Given the description of an element on the screen output the (x, y) to click on. 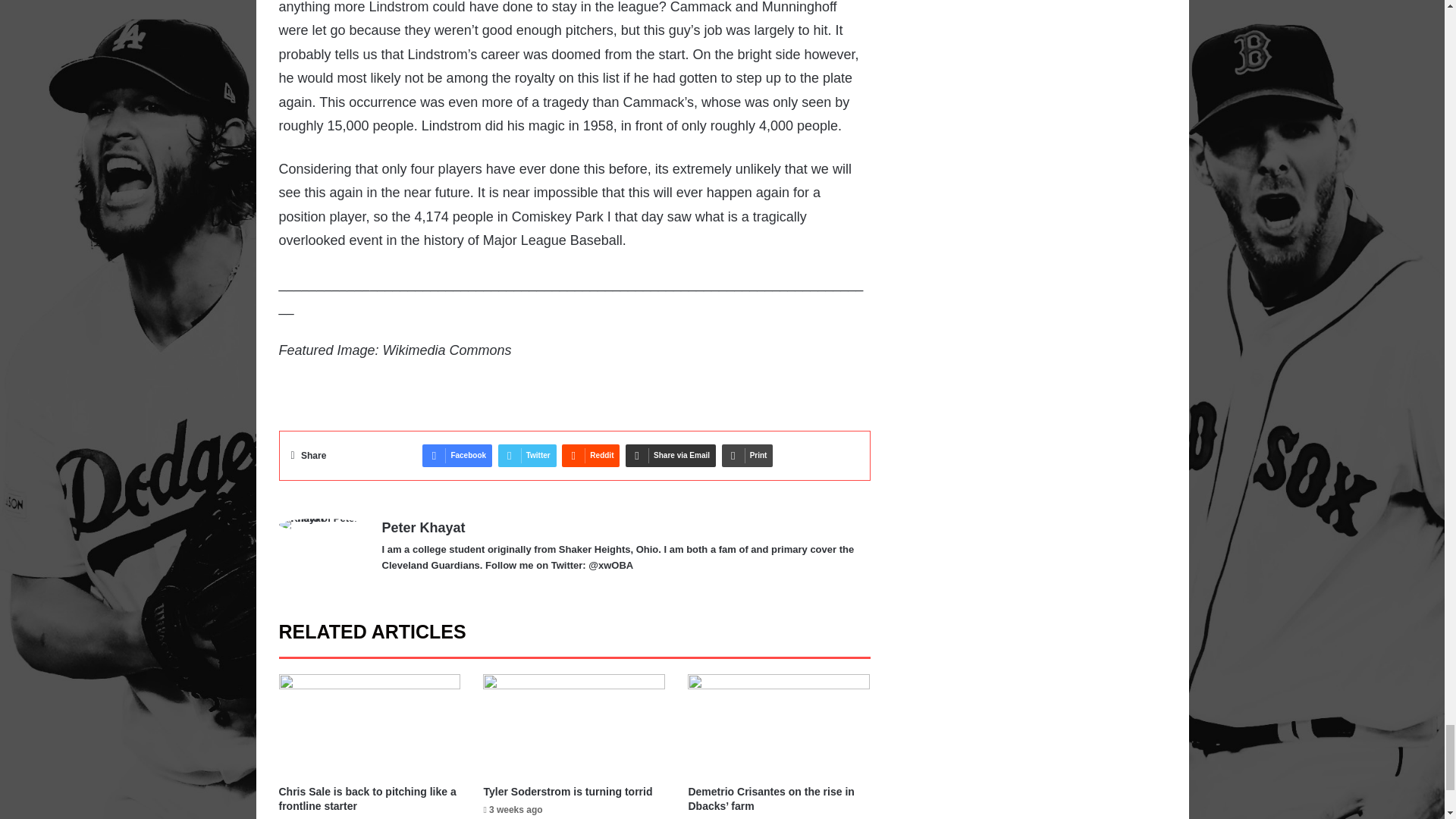
Facebook (457, 455)
Reddit (591, 455)
Print (747, 455)
Share via Email (671, 455)
Twitter (526, 455)
